Given the description of an element on the screen output the (x, y) to click on. 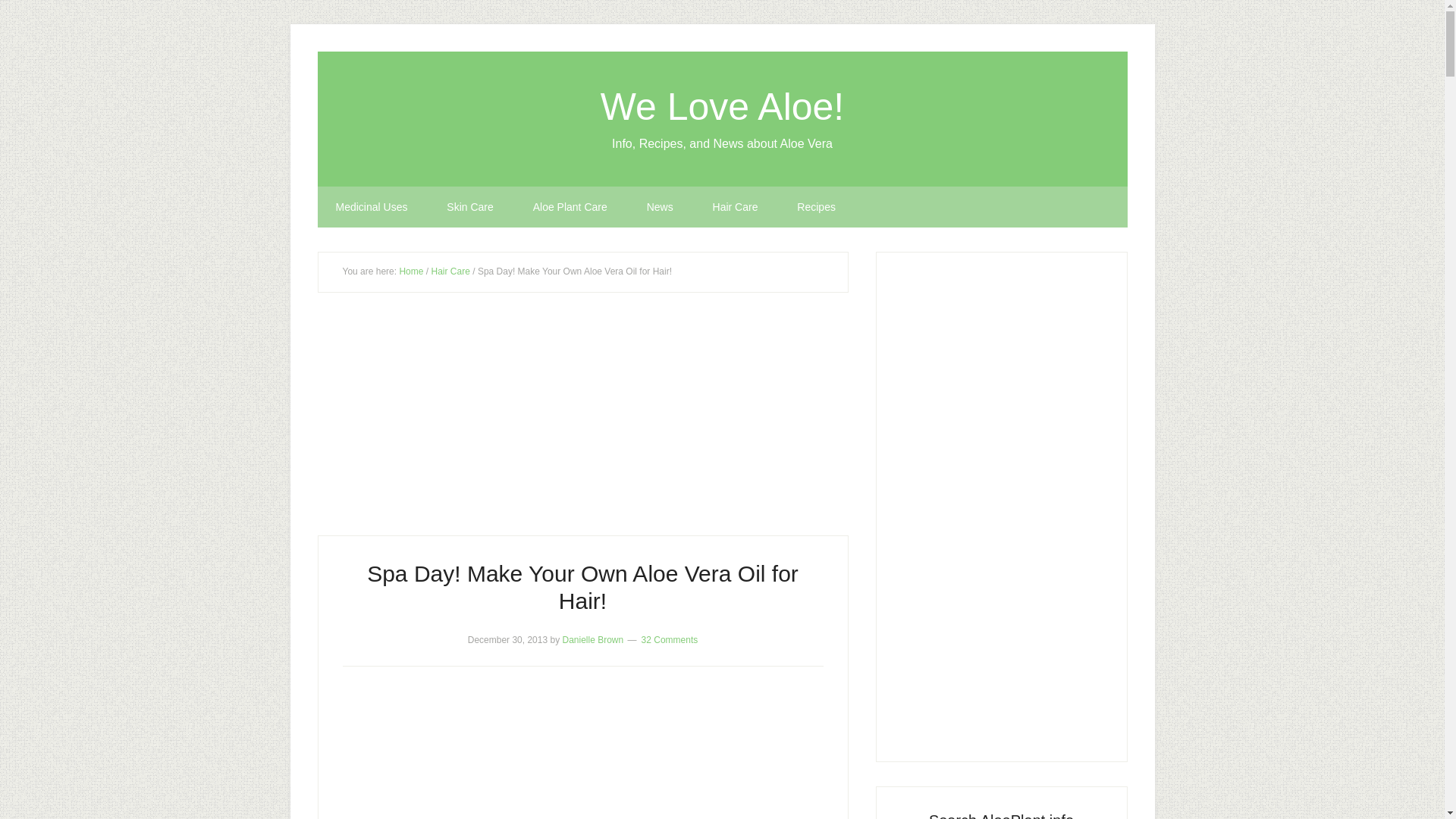
Aloe Plant Care (570, 206)
Medicinal Uses (371, 206)
Advertisement (582, 422)
32 Comments (670, 638)
Home (410, 271)
We Love Aloe! (721, 106)
Recipes (815, 206)
Danielle Brown (592, 638)
Hair Care (735, 206)
Hair Care (449, 271)
News (659, 206)
Advertisement (583, 757)
Skin Care (469, 206)
